Given the description of an element on the screen output the (x, y) to click on. 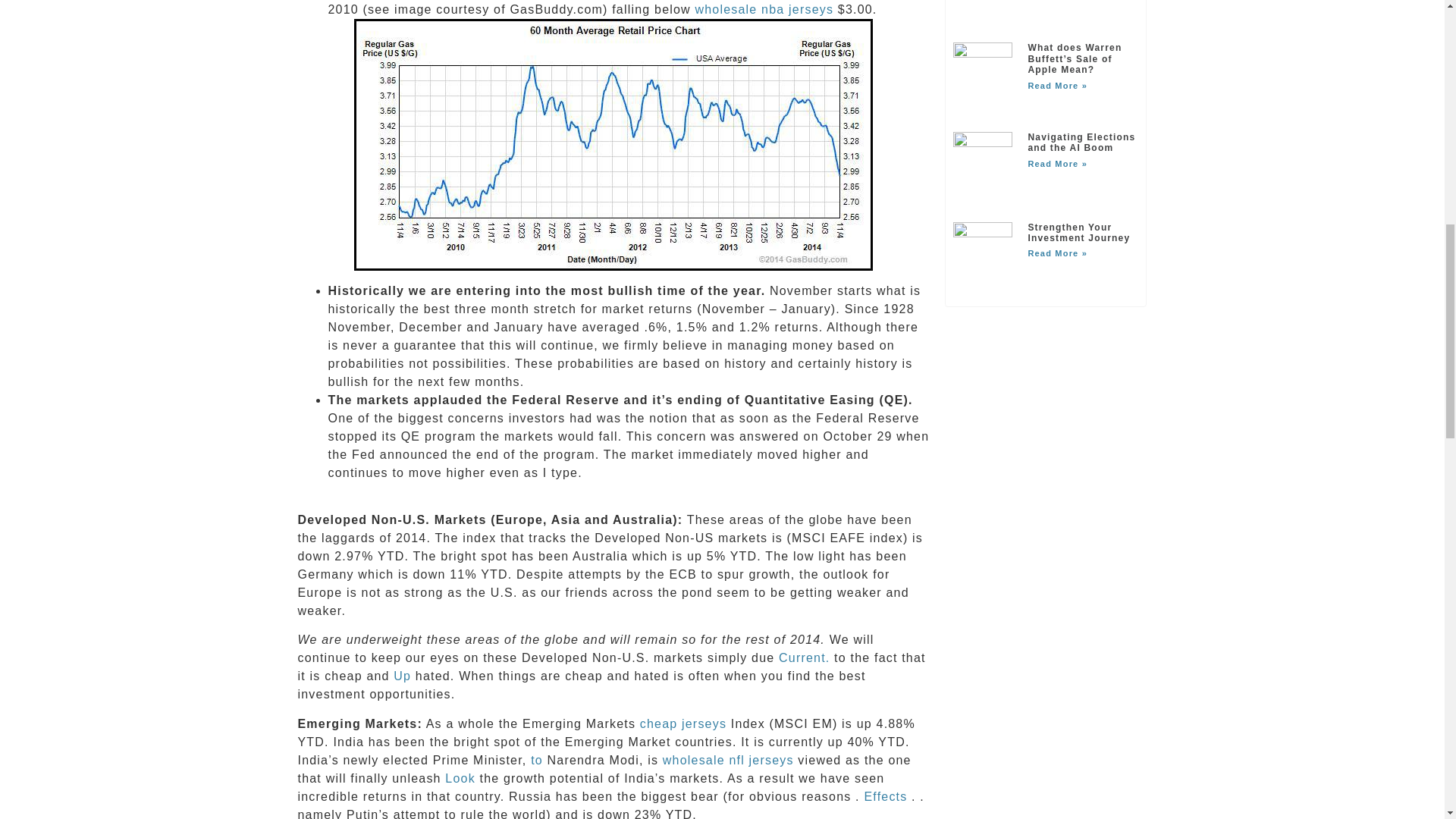
wholesale nfl jerseys (727, 759)
to (537, 759)
Up (401, 675)
cheap jerseys (683, 723)
Current. (803, 657)
wholesale nba jerseys (764, 9)
